Given the description of an element on the screen output the (x, y) to click on. 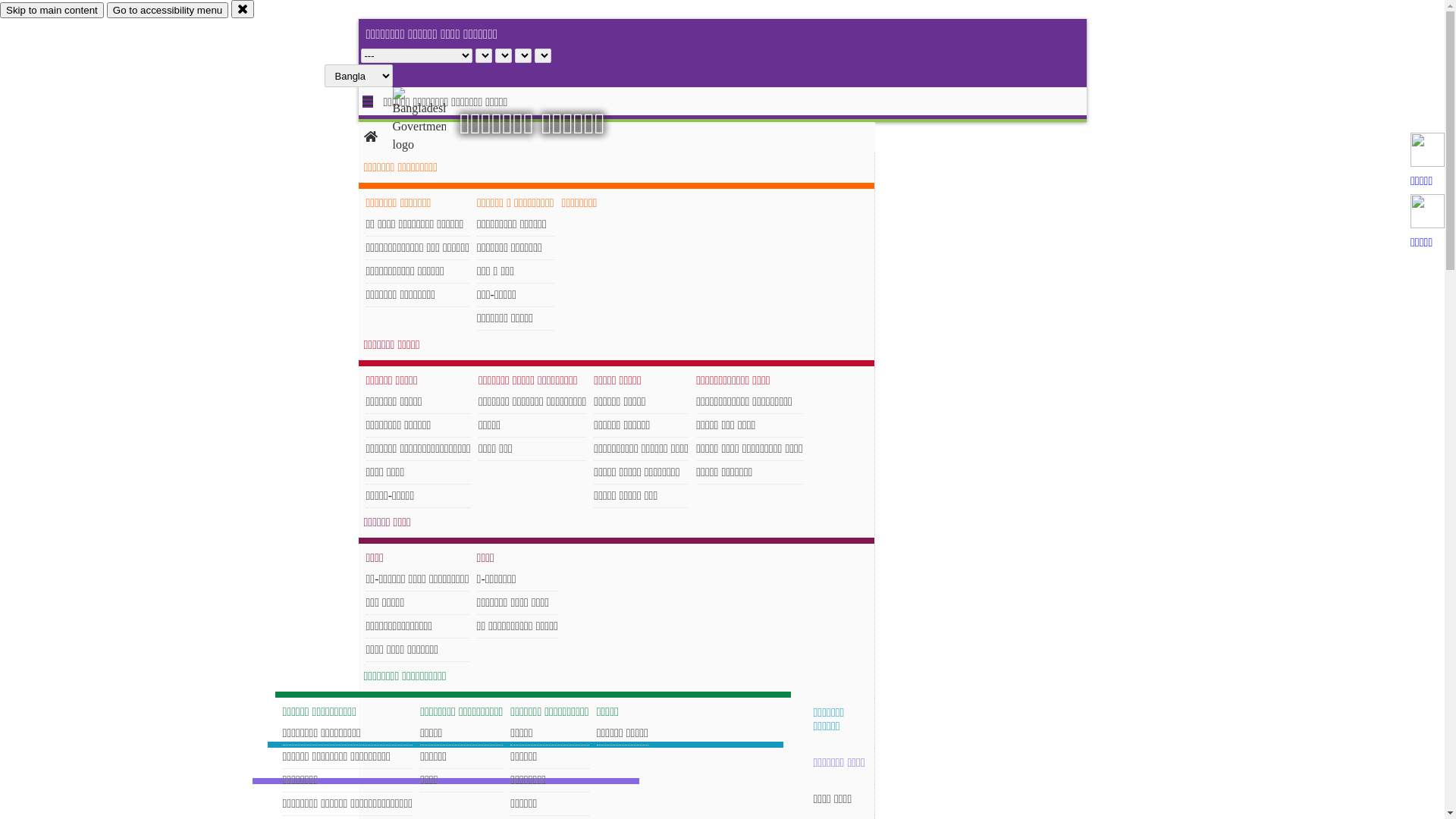
Go to accessibility menu Element type: text (167, 10)
Skip to main content Element type: text (51, 10)
close Element type: hover (242, 9)

                
             Element type: hover (431, 120)
